Given the description of an element on the screen output the (x, y) to click on. 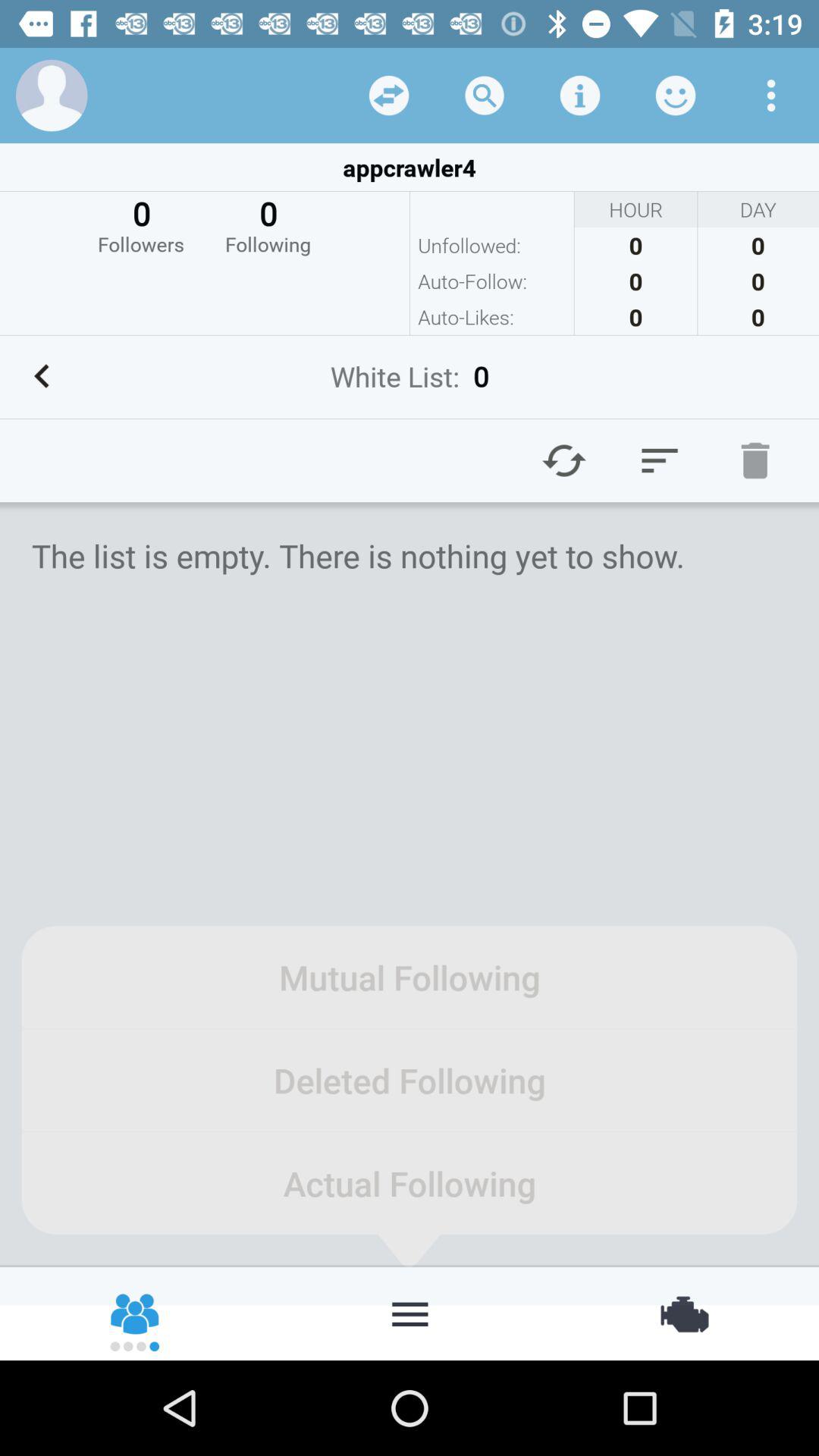
refresh icon (563, 460)
